Given the description of an element on the screen output the (x, y) to click on. 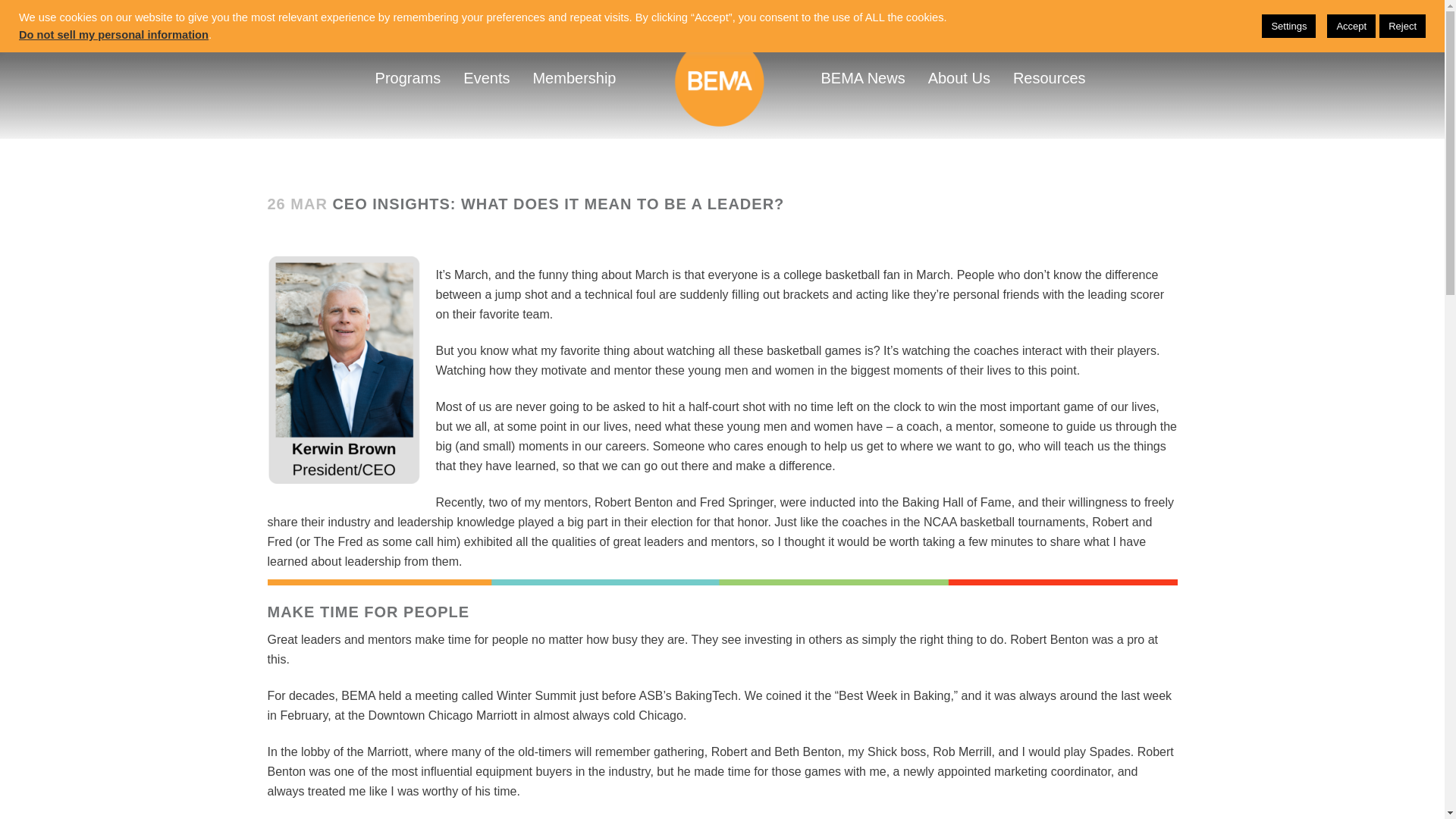
LOGIN TO MEMBER PORTAL (448, 78)
Membership (376, 23)
